Given the description of an element on the screen output the (x, y) to click on. 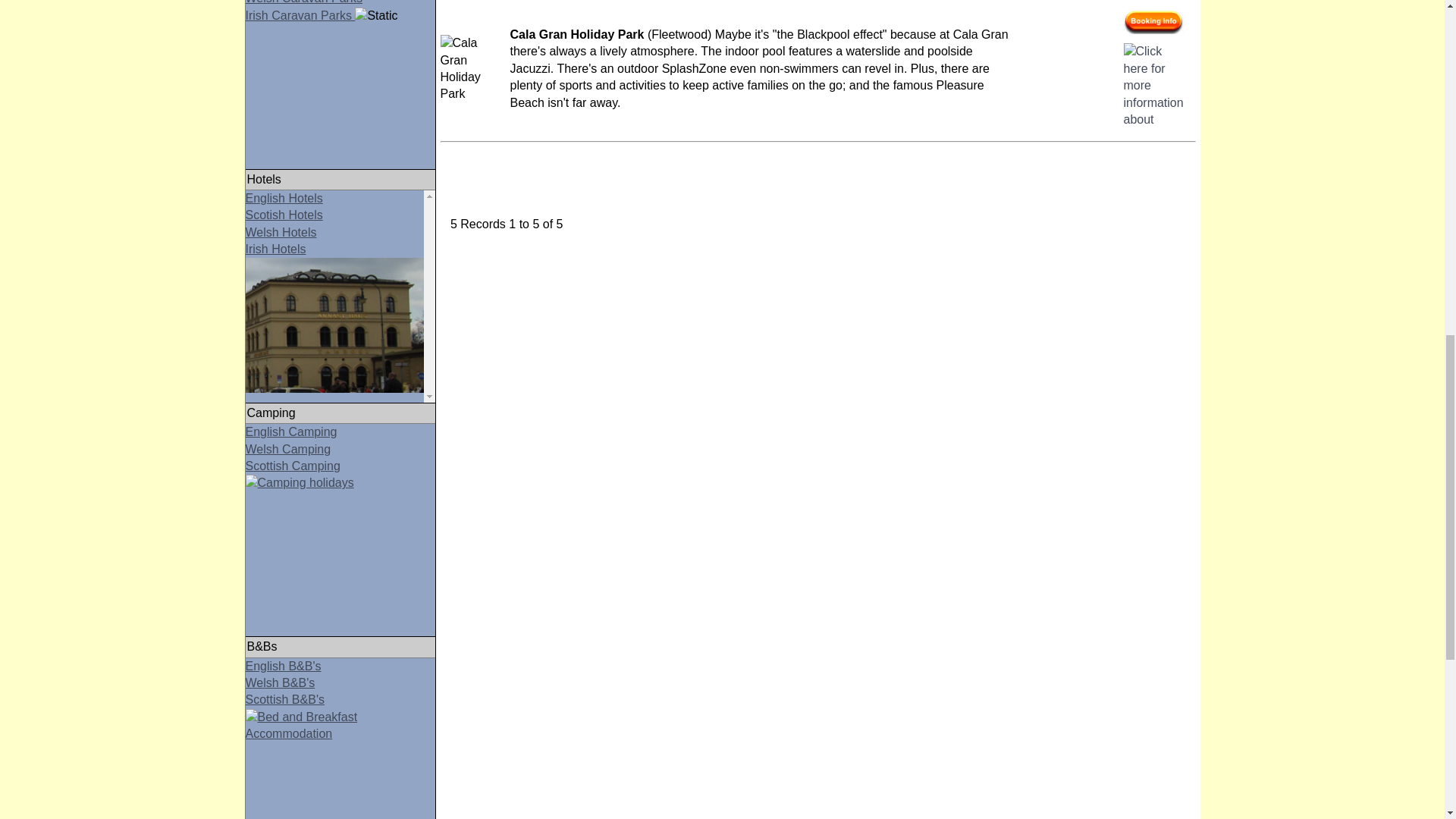
Welsh Bed and Breakfasts (280, 682)
Irish Caravan Parks (300, 15)
English Bed and Breakfasts (283, 666)
Scotish Hotels (284, 214)
Welsh Caravan Parks (304, 2)
English Hotels (284, 197)
Welsh Hotels (281, 232)
Scottish Camping (340, 481)
English Camping (291, 431)
Welsh Camping (288, 449)
